Given the description of an element on the screen output the (x, y) to click on. 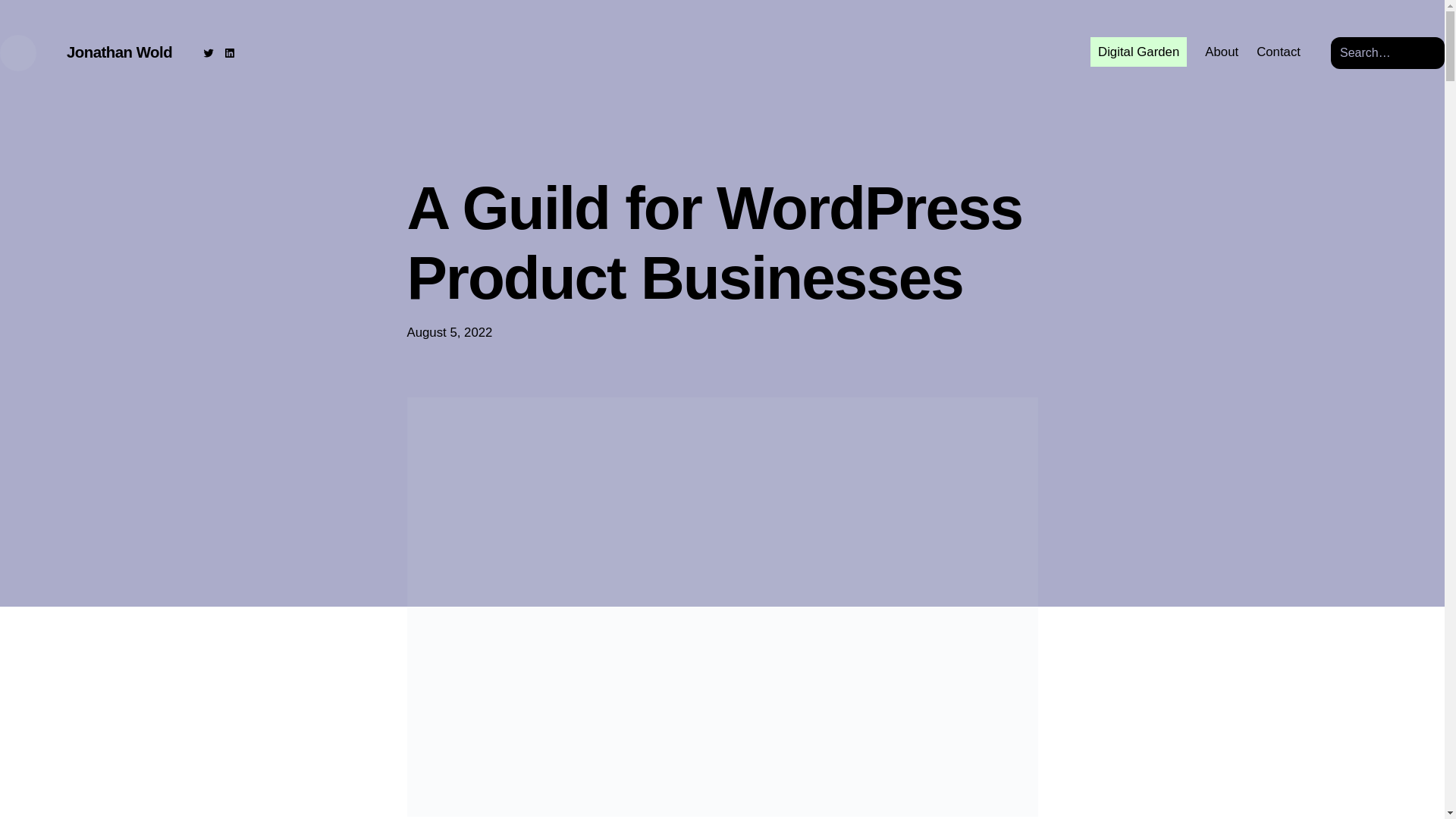
Twitter (208, 52)
About (1222, 52)
LinkedIn (229, 52)
Contact (1278, 52)
Jonathan Wold (118, 52)
Digital Garden (1138, 52)
